Given the description of an element on the screen output the (x, y) to click on. 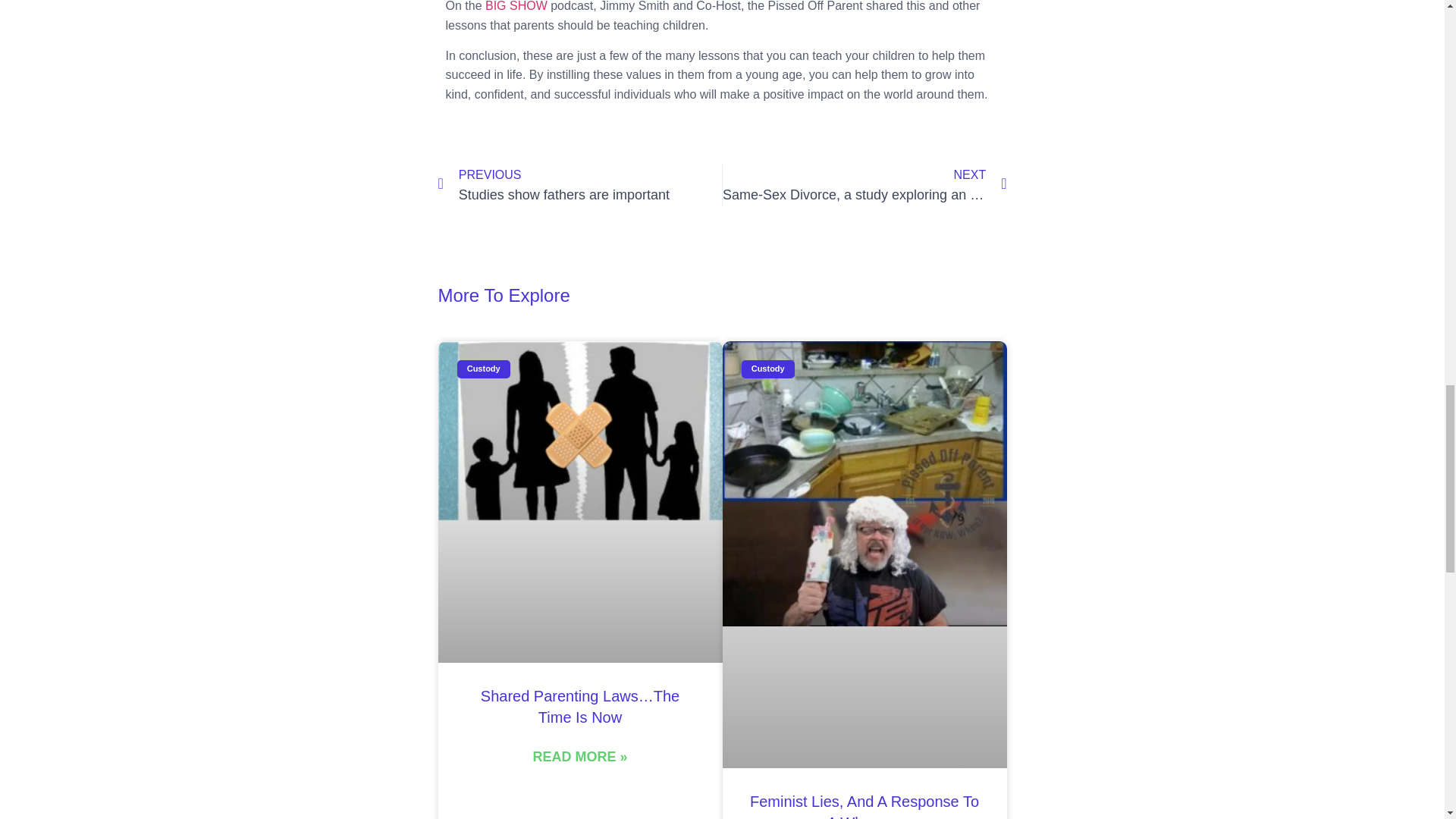
Feminist Lies, And A Response To A Whopper (580, 184)
BIG SHOW (863, 806)
